Given the description of an element on the screen output the (x, y) to click on. 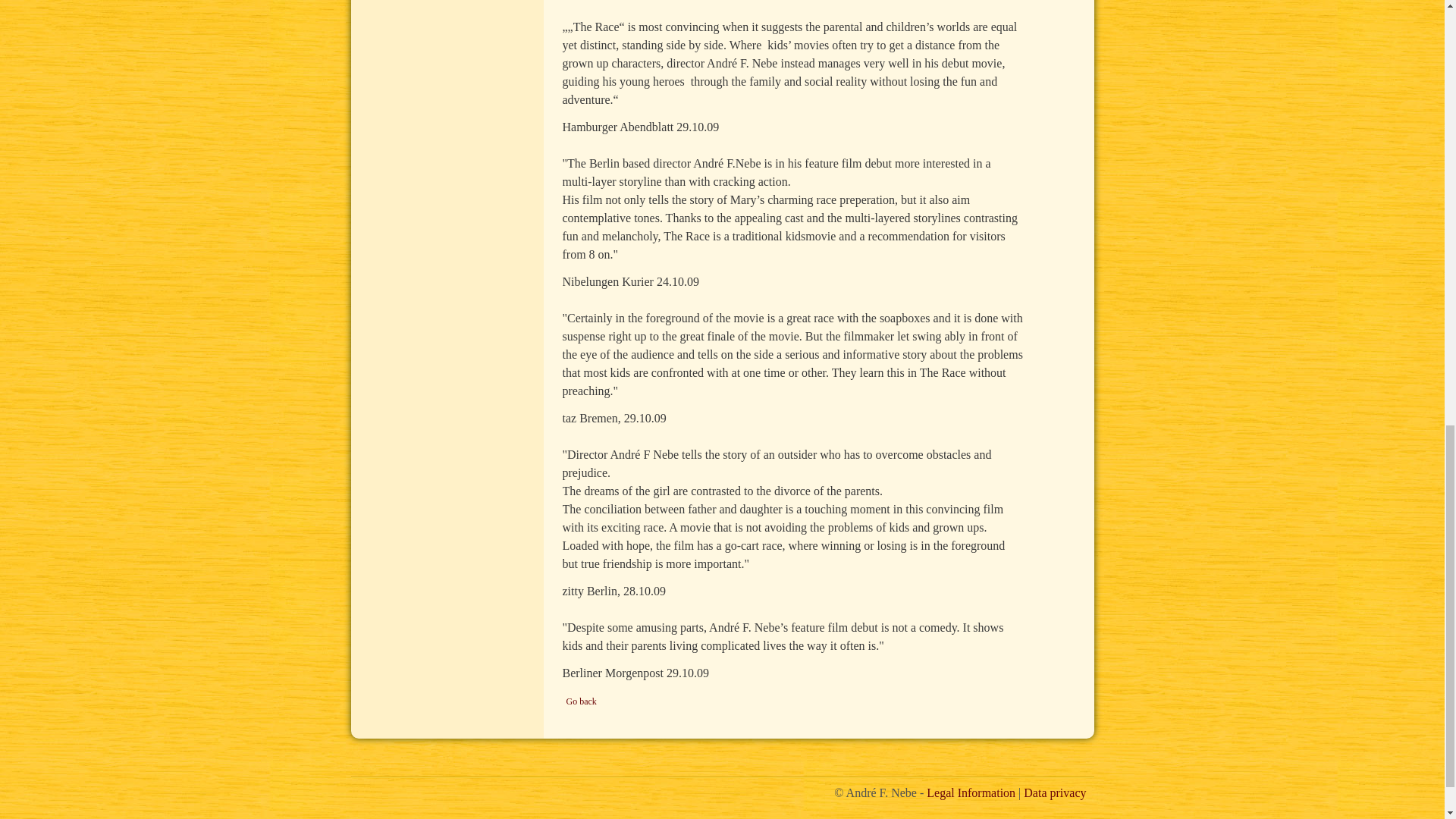
Go back (580, 701)
Data privacy (1054, 792)
Legal Information (970, 792)
Go back (580, 701)
